Given the description of an element on the screen output the (x, y) to click on. 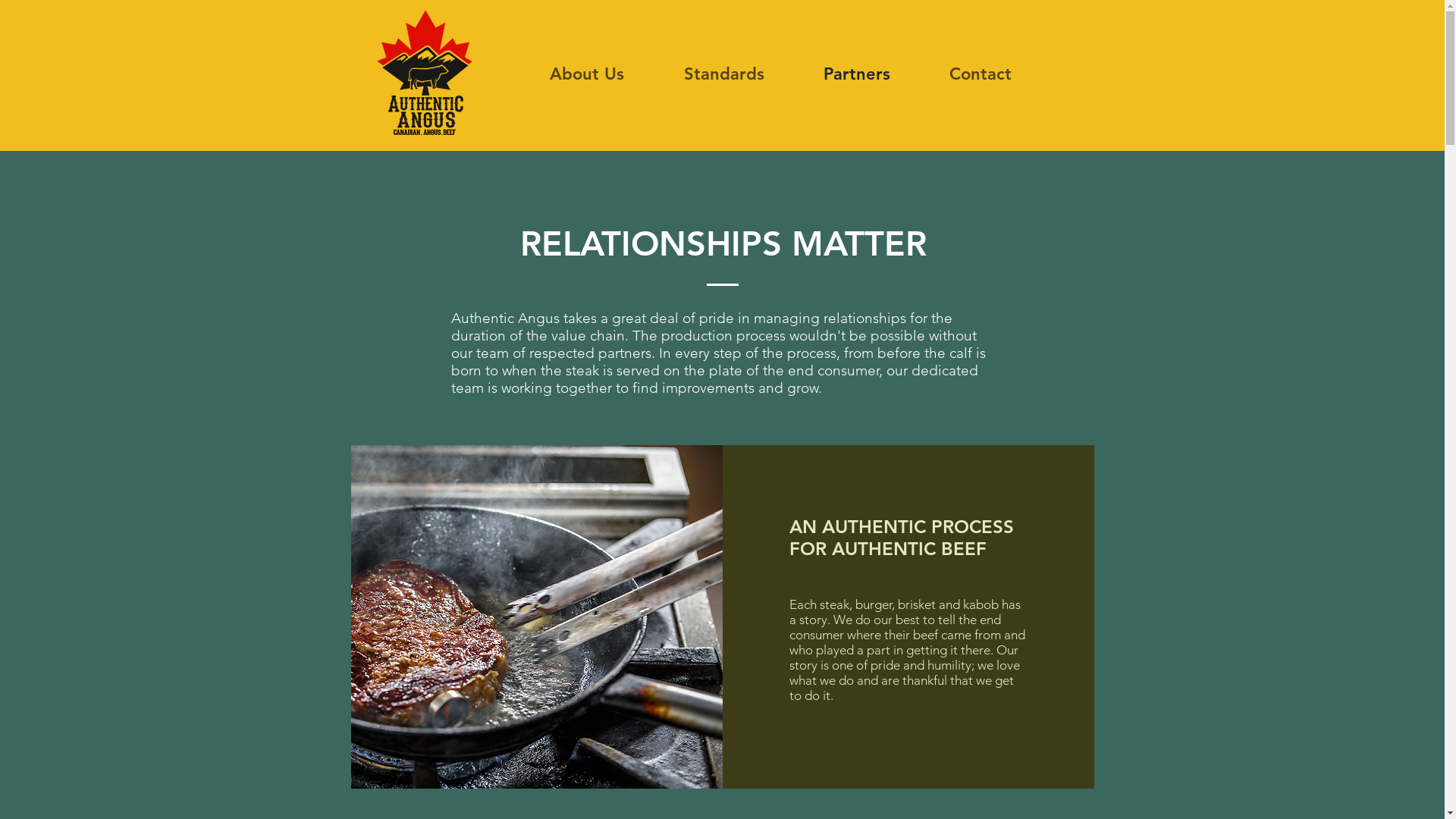
Standards Element type: text (723, 74)
About Us Element type: text (587, 74)
Contact Element type: text (979, 74)
Partners Element type: text (856, 74)
